Given the description of an element on the screen output the (x, y) to click on. 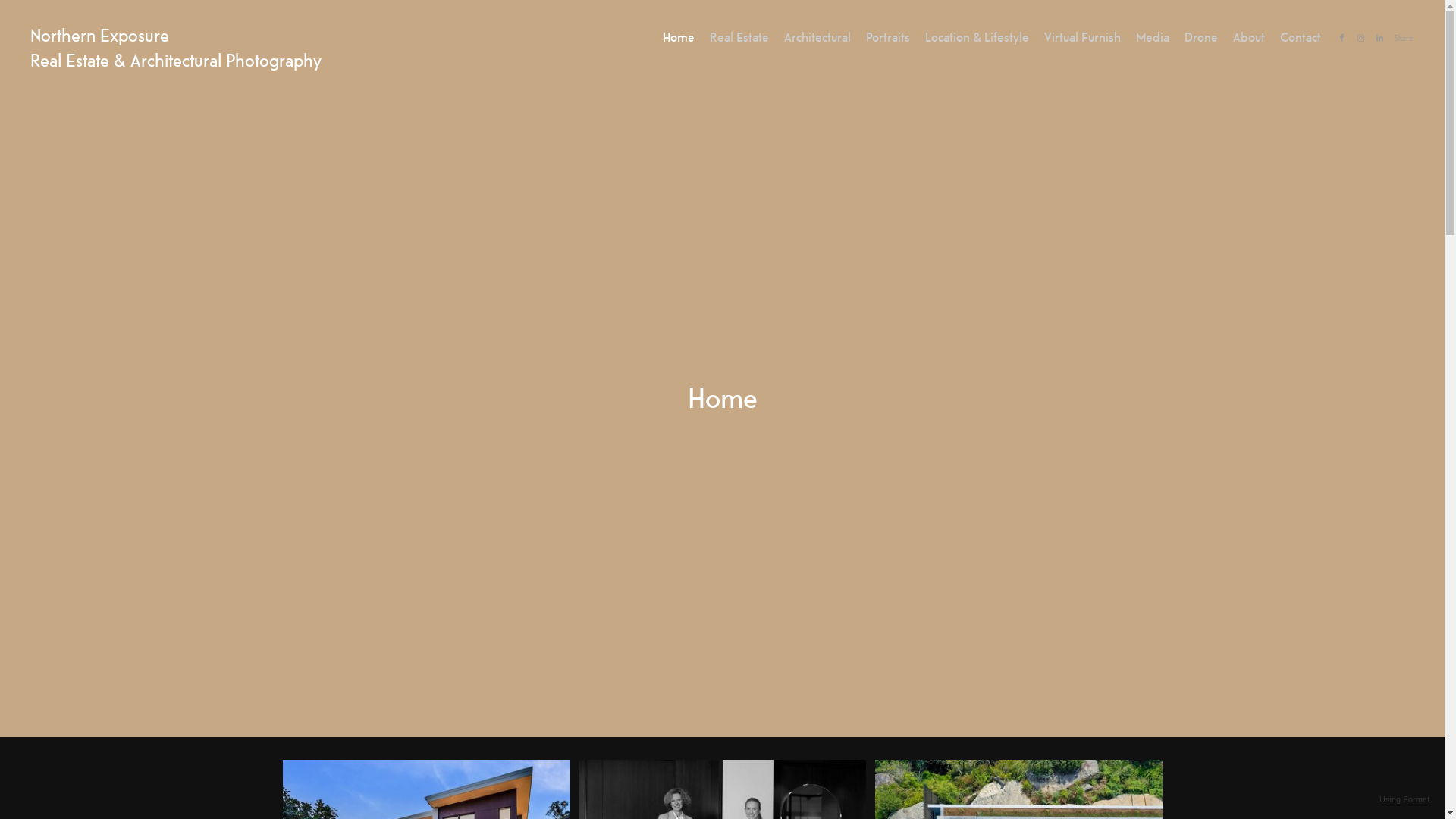
Location & Lifestyle Element type: text (977, 36)
Virtual Furnish Element type: text (1082, 36)
Real Estate Element type: text (738, 36)
Using Format Element type: text (1404, 799)
Drone Element type: text (1200, 36)
Contact Element type: text (1300, 36)
Share Element type: text (1403, 37)
Portraits Element type: text (888, 36)
Northern Exposure
Real Estate & Architectural Photography Element type: text (175, 47)
LinkedIn Element type: hover (1379, 36)
Architectural Element type: text (817, 36)
About Element type: text (1248, 36)
Media Element type: text (1152, 36)
Home Element type: text (678, 36)
Instagram Element type: hover (1360, 36)
Facebook Element type: hover (1341, 36)
